Given the description of an element on the screen output the (x, y) to click on. 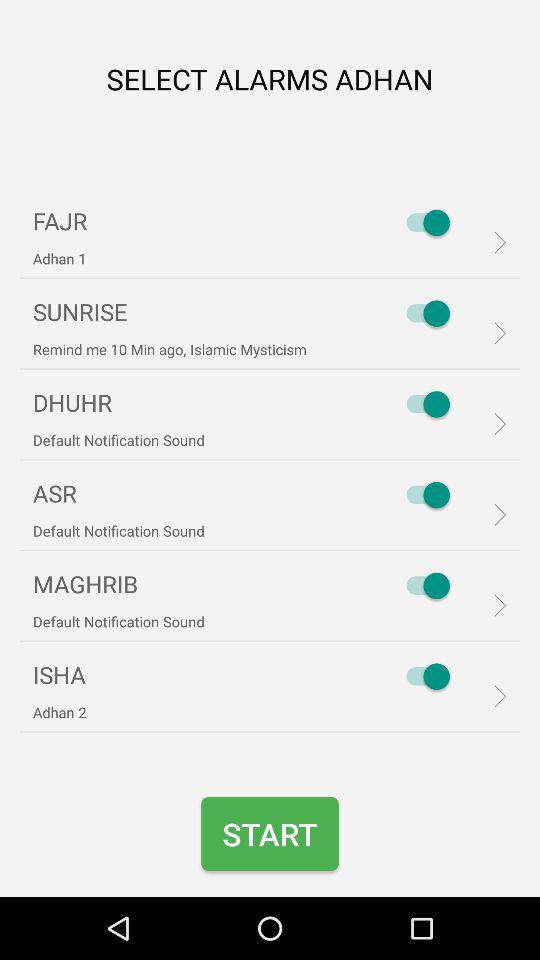
switch maghrib sound option (423, 585)
